Given the description of an element on the screen output the (x, y) to click on. 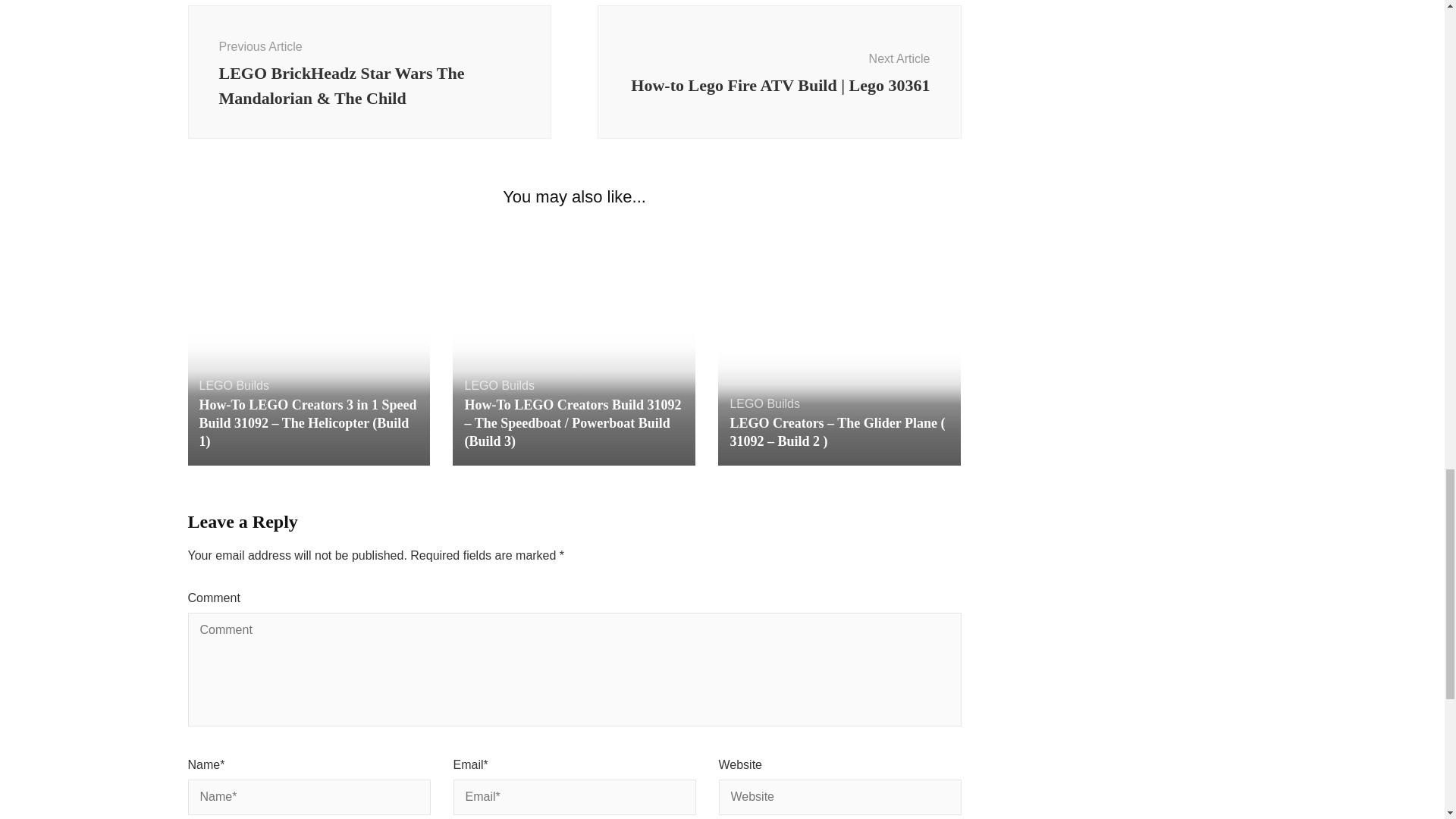
LEGO Builds (499, 385)
LEGO Builds (764, 403)
LEGO Builds (232, 385)
